Given the description of an element on the screen output the (x, y) to click on. 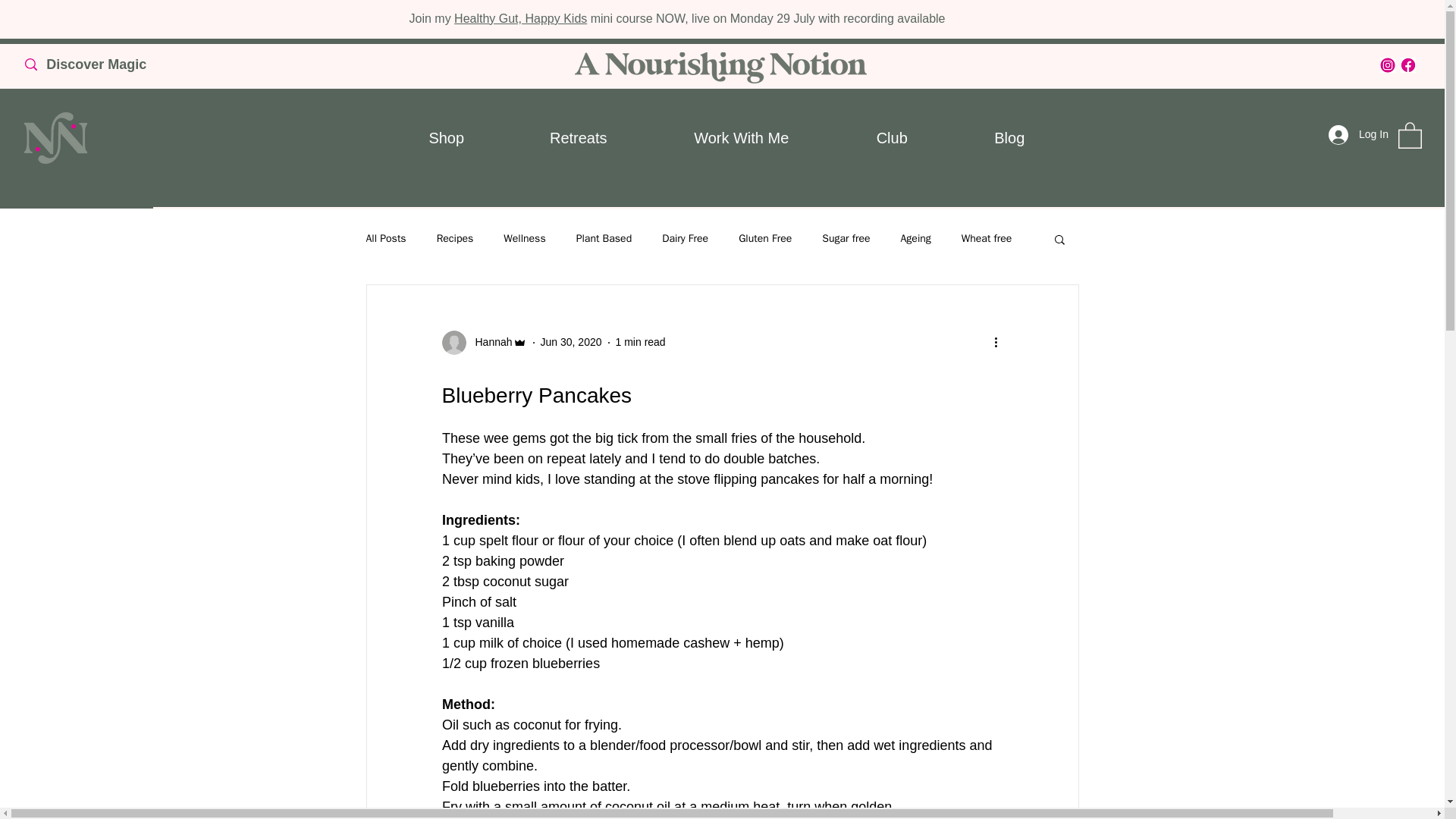
Retreats (577, 137)
Healthy Gut, Happy Kids (520, 18)
Shop (445, 137)
Club (891, 137)
Blog (1009, 137)
Log In (1357, 134)
Work With Me (740, 137)
Hannah (488, 342)
Jun 30, 2020 (571, 341)
1 min read (640, 341)
